Given the description of an element on the screen output the (x, y) to click on. 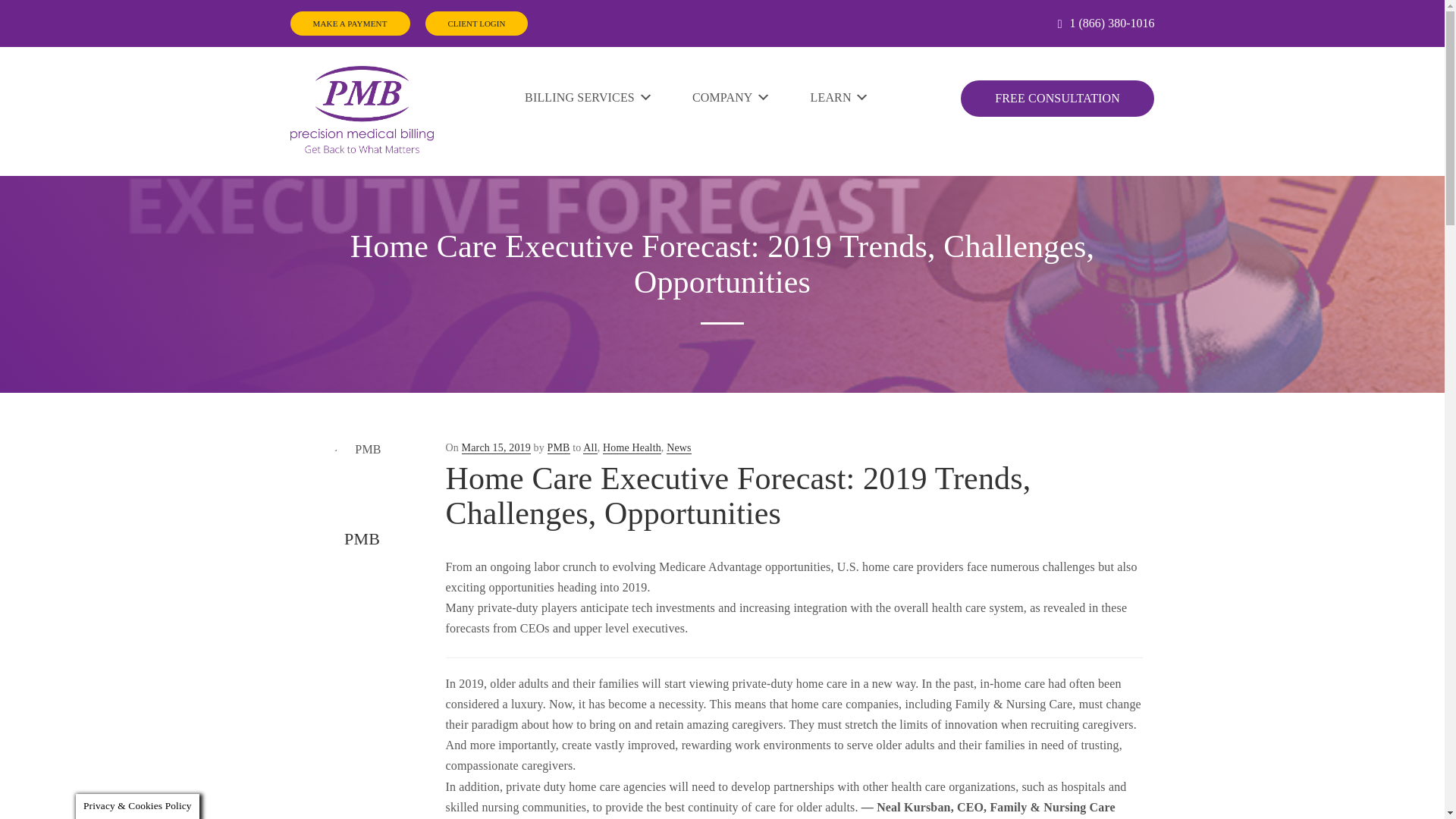
PMB (558, 448)
PMB logo - tagline purple sm (360, 109)
BILLING SERVICES (588, 97)
COMPANY (731, 97)
CLIENT LOGIN (476, 23)
MAKE A PAYMENT (349, 23)
All (589, 448)
Home Health (631, 448)
FREE CONSULTATION (1057, 98)
News (678, 448)
March 15, 2019 (496, 448)
LEARN (839, 97)
